Given the description of an element on the screen output the (x, y) to click on. 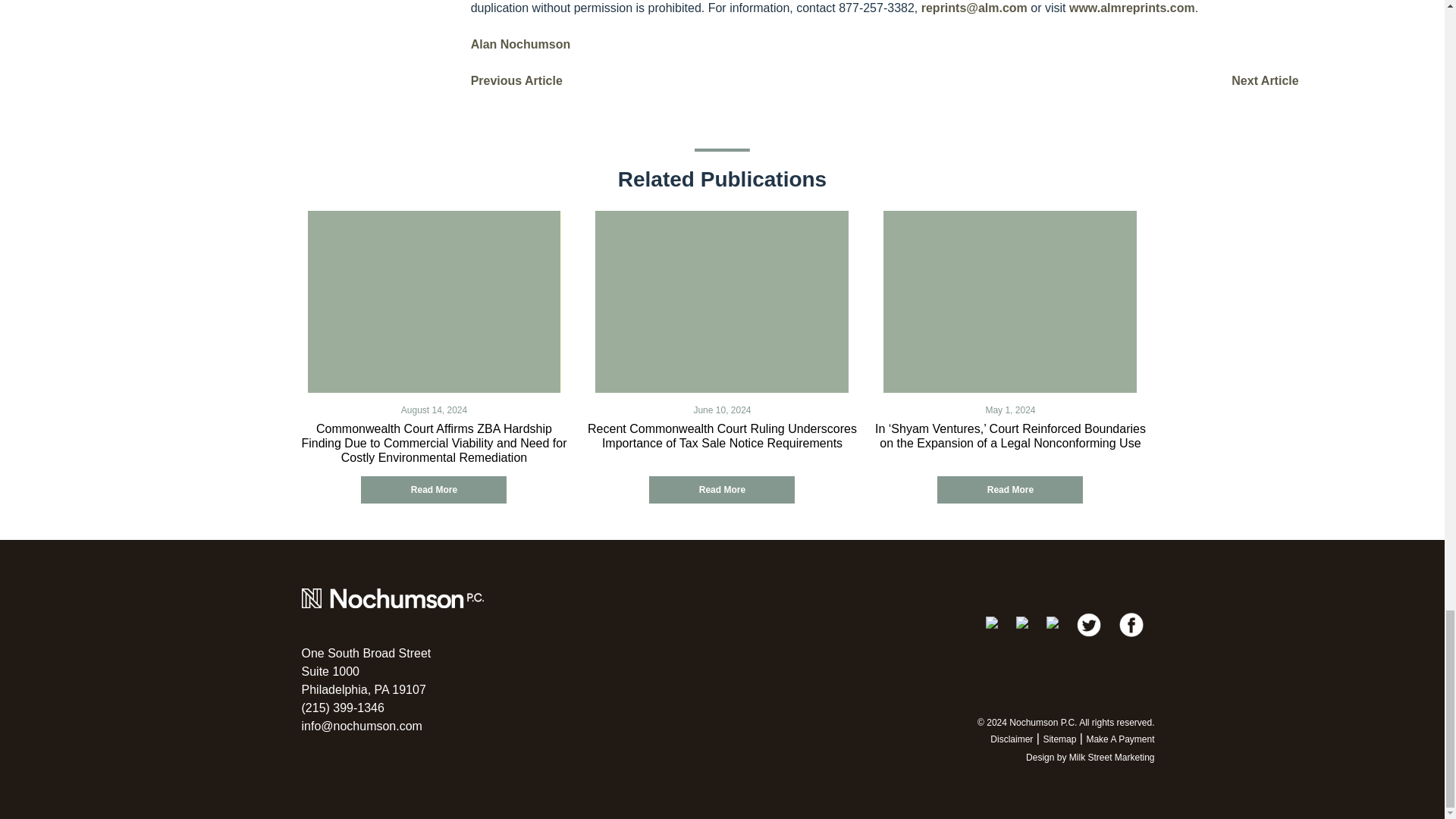
Read More (433, 489)
Read More (1010, 489)
www.almreprints.com (1131, 7)
Alan Nochumson (520, 43)
Previous Article (365, 671)
Next Article (516, 80)
Read More (1264, 80)
www.almreprints.com (721, 489)
